Given the description of an element on the screen output the (x, y) to click on. 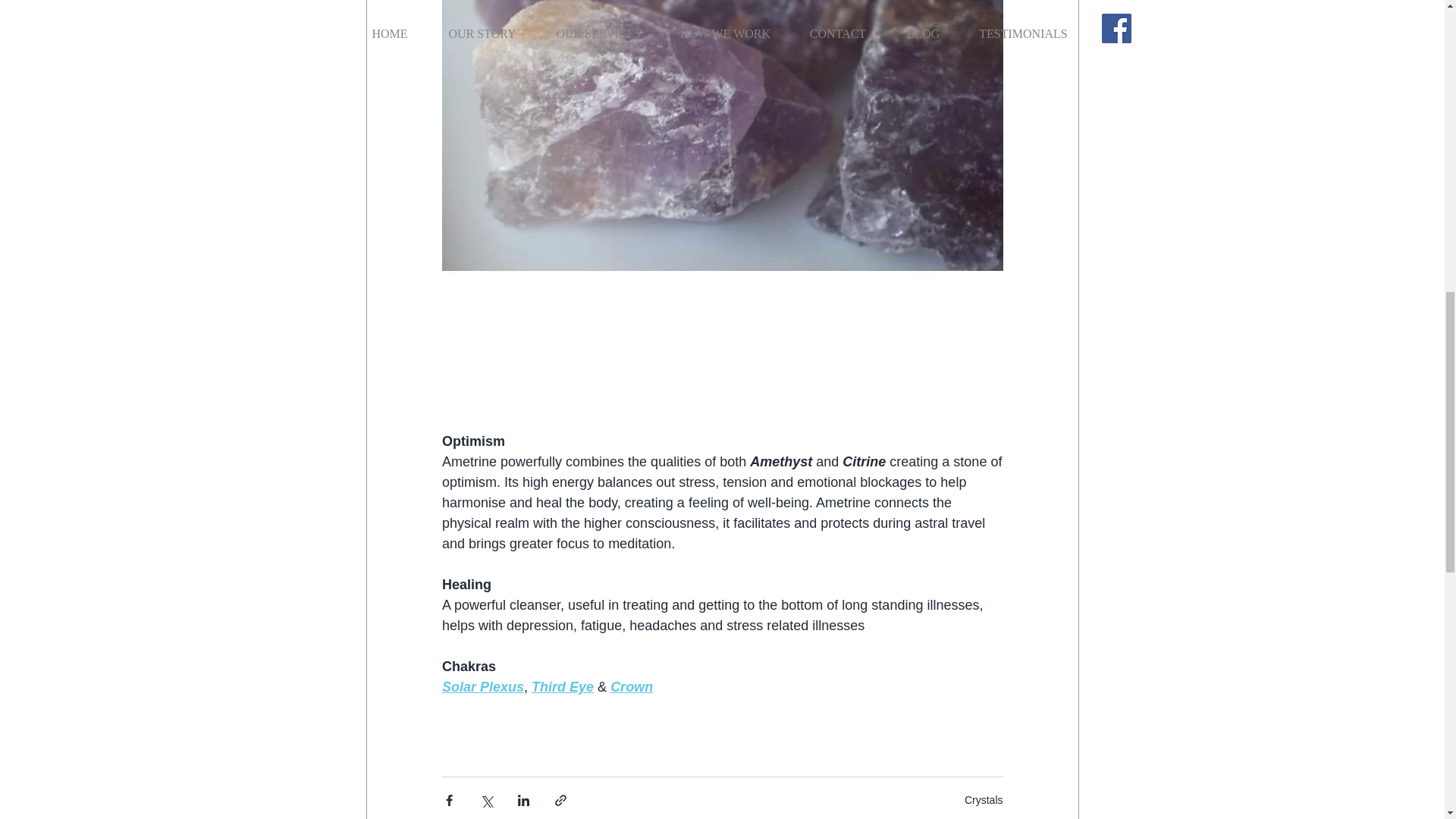
Solar Plexus (481, 686)
Third Eye (562, 686)
